Given the description of an element on the screen output the (x, y) to click on. 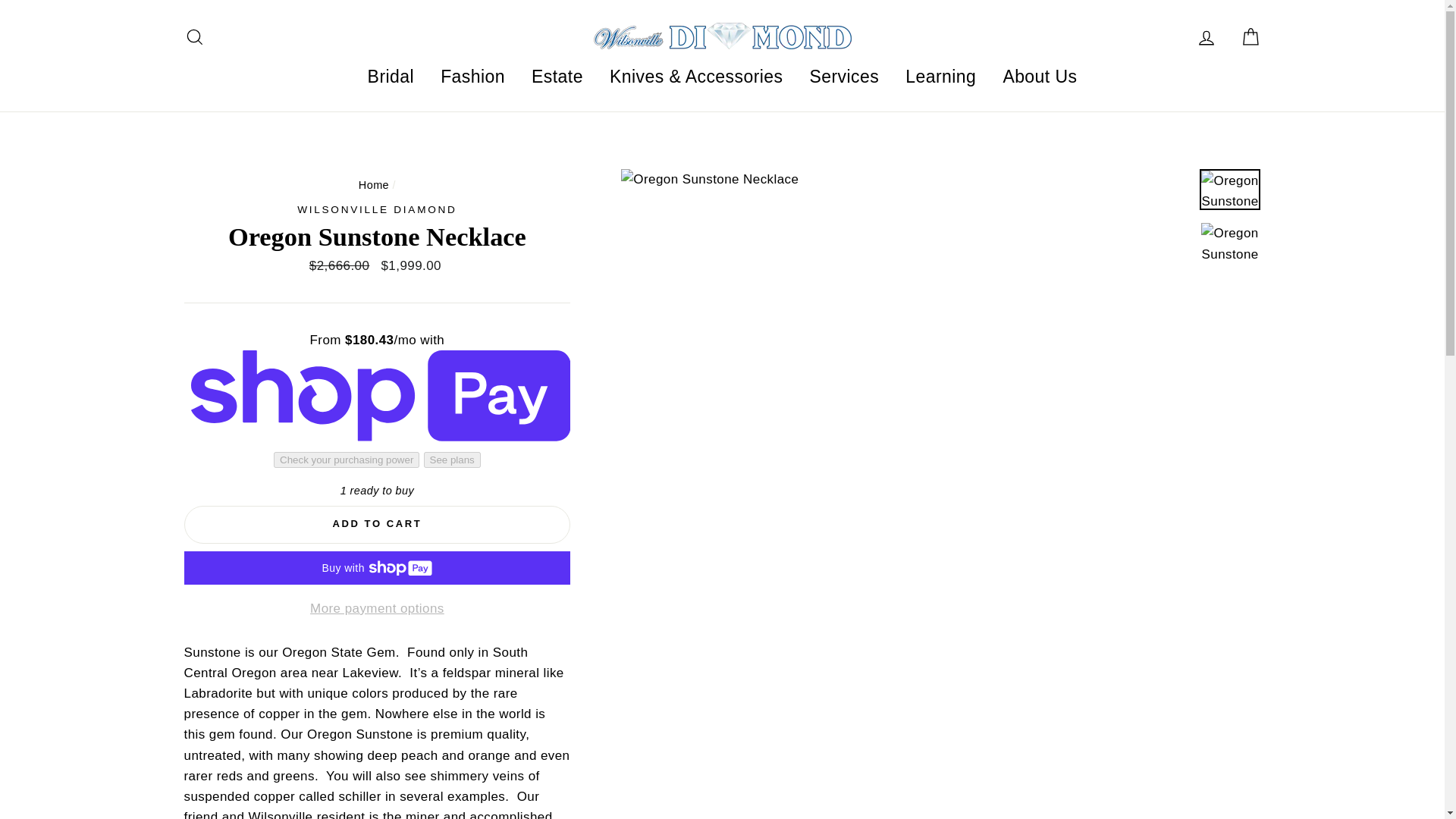
Log in (1205, 36)
Bridal (390, 76)
Search (194, 36)
Back to the frontpage (373, 184)
Cart (1249, 36)
Fashion (472, 76)
